Given the description of an element on the screen output the (x, y) to click on. 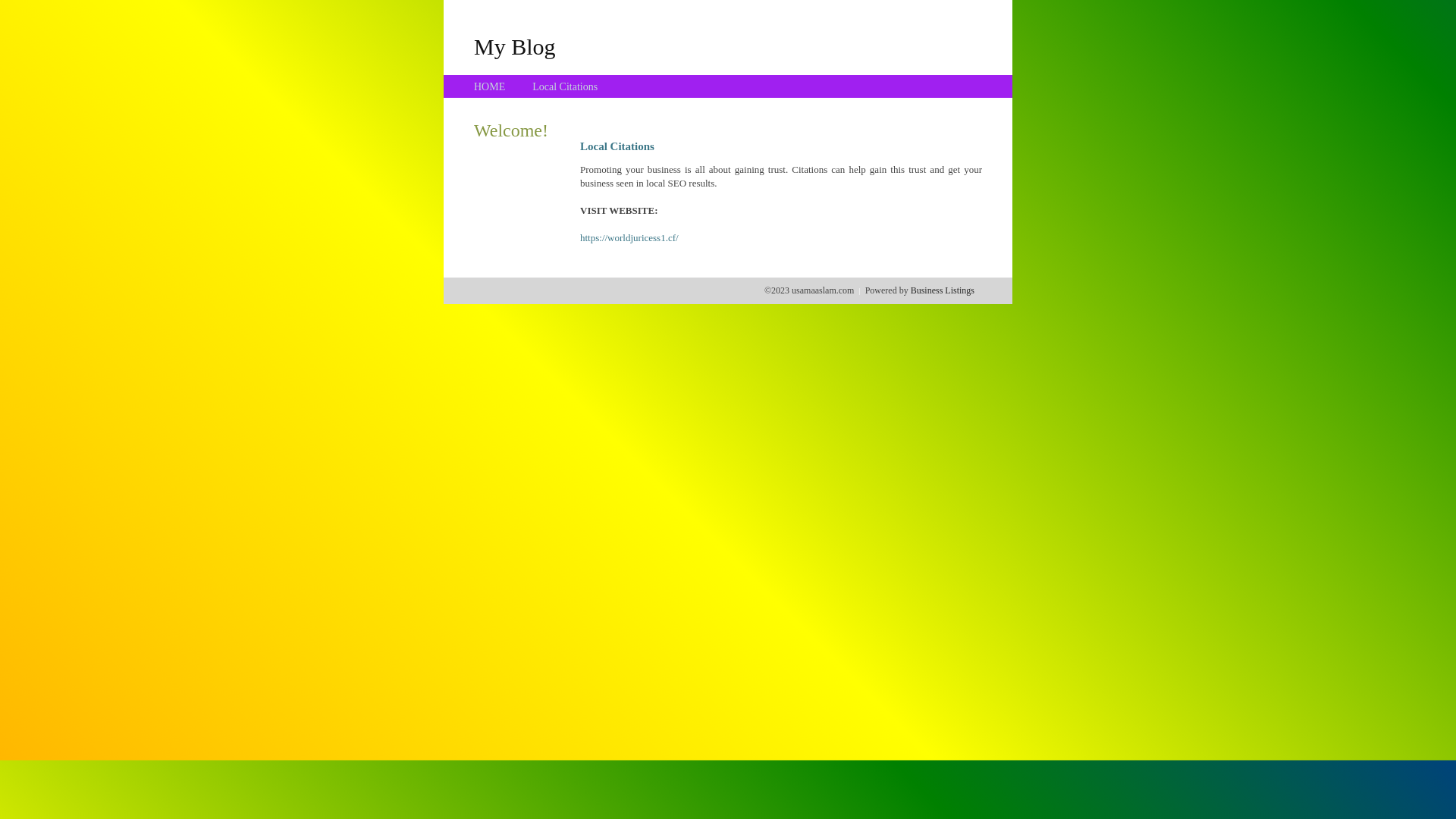
https://worldjuricess1.cf/ Element type: text (629, 237)
HOME Element type: text (489, 86)
Local Citations Element type: text (564, 86)
Business Listings Element type: text (942, 290)
My Blog Element type: text (514, 46)
